Given the description of an element on the screen output the (x, y) to click on. 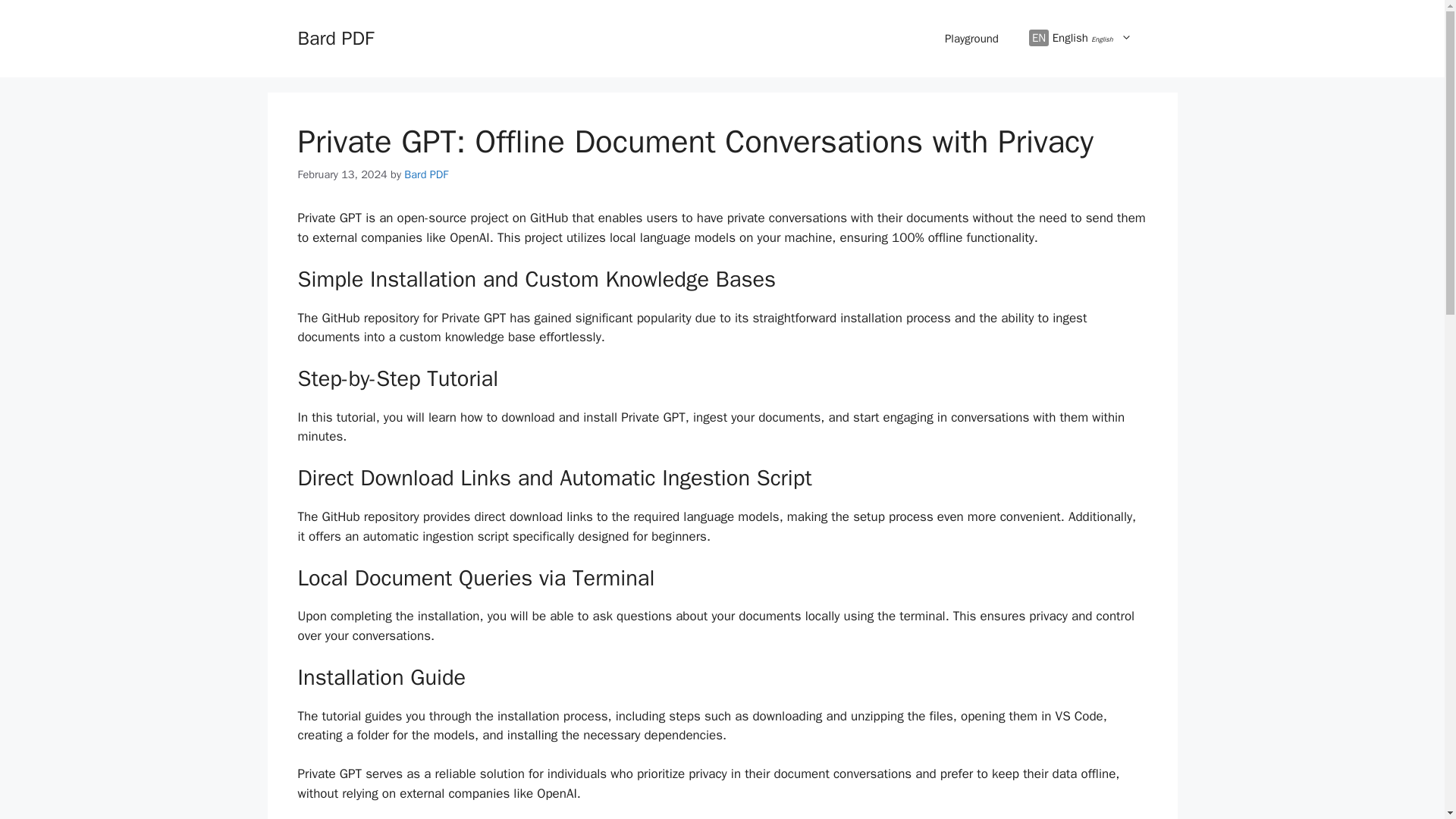
Bard PDF (334, 37)
View all posts by Bard PDF (426, 173)
EN English English (1080, 38)
Playground (971, 38)
Bard PDF (426, 173)
